Given the description of an element on the screen output the (x, y) to click on. 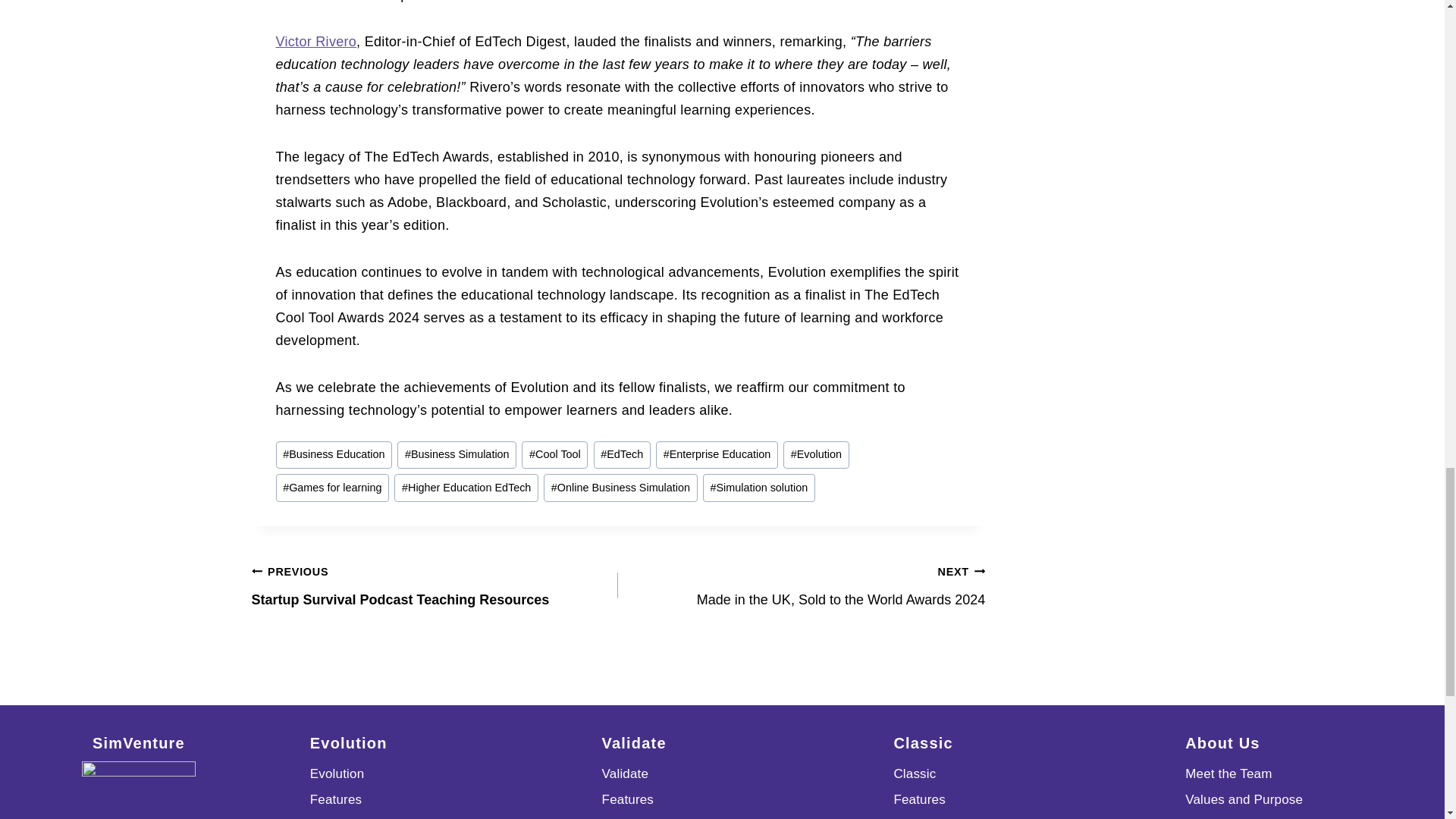
Games for learning (333, 488)
Cool Tool (554, 455)
Online Business Simulation (620, 488)
SimVenture (138, 790)
EdTech (622, 455)
Evolution (815, 455)
Simulation solution (759, 488)
Higher Education EdTech (466, 488)
Business Education (334, 455)
Enterprise Education (716, 455)
Business Simulation (456, 455)
